Given the description of an element on the screen output the (x, y) to click on. 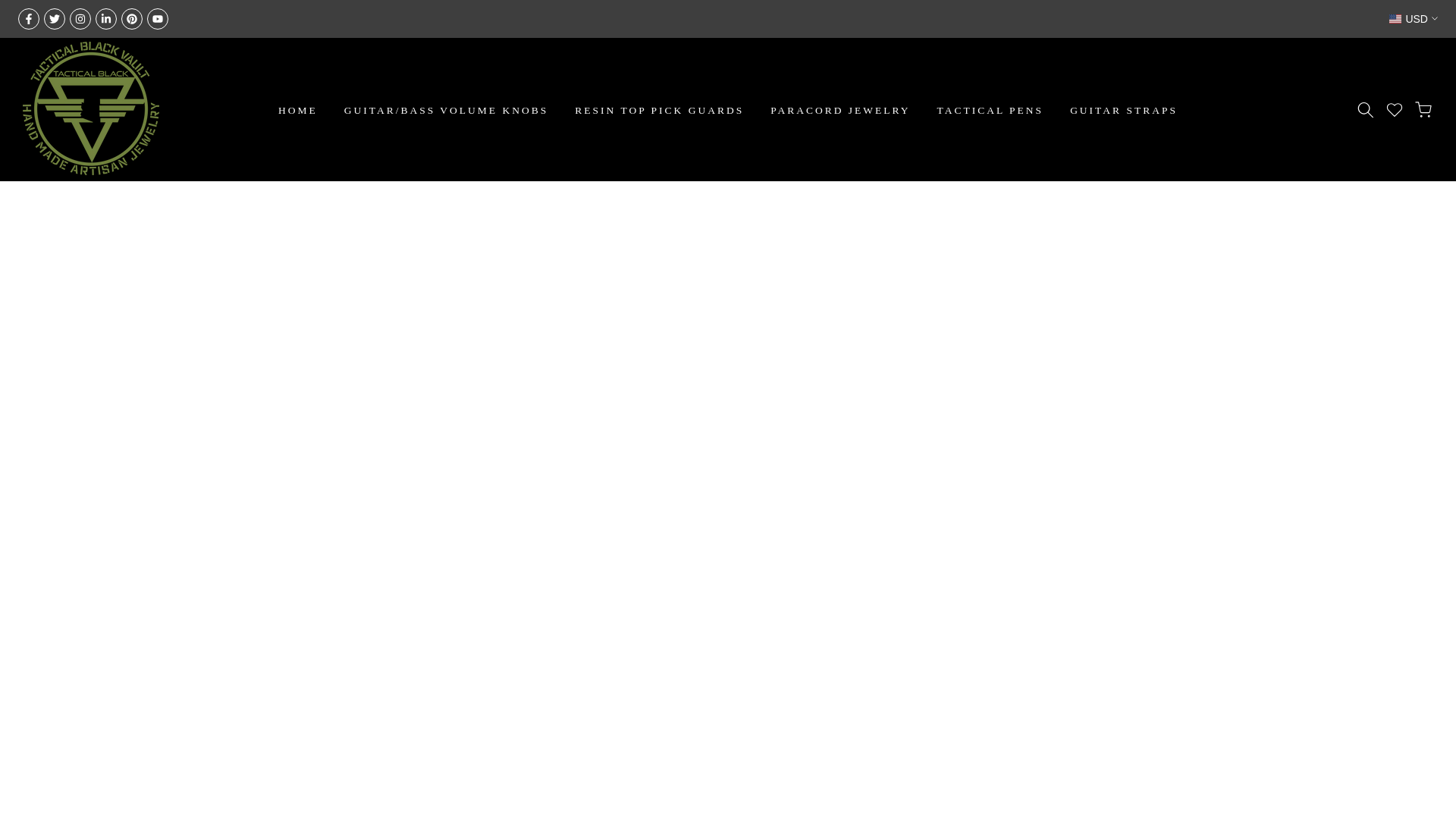
Follow on Facebook (28, 18)
HOME (297, 110)
Follow on Pinterest (131, 18)
Follow on Linkedin (106, 18)
Skip to content (10, 7)
TACTICAL PENS (990, 110)
Follow on YouTube (157, 18)
RESIN TOP PICK GUARDS (659, 110)
PARACORD JEWELRY (840, 110)
Follow on Twitter (54, 18)
GUITAR STRAPS (1124, 110)
USD (1413, 18)
Follow on Instagram (79, 18)
